Given the description of an element on the screen output the (x, y) to click on. 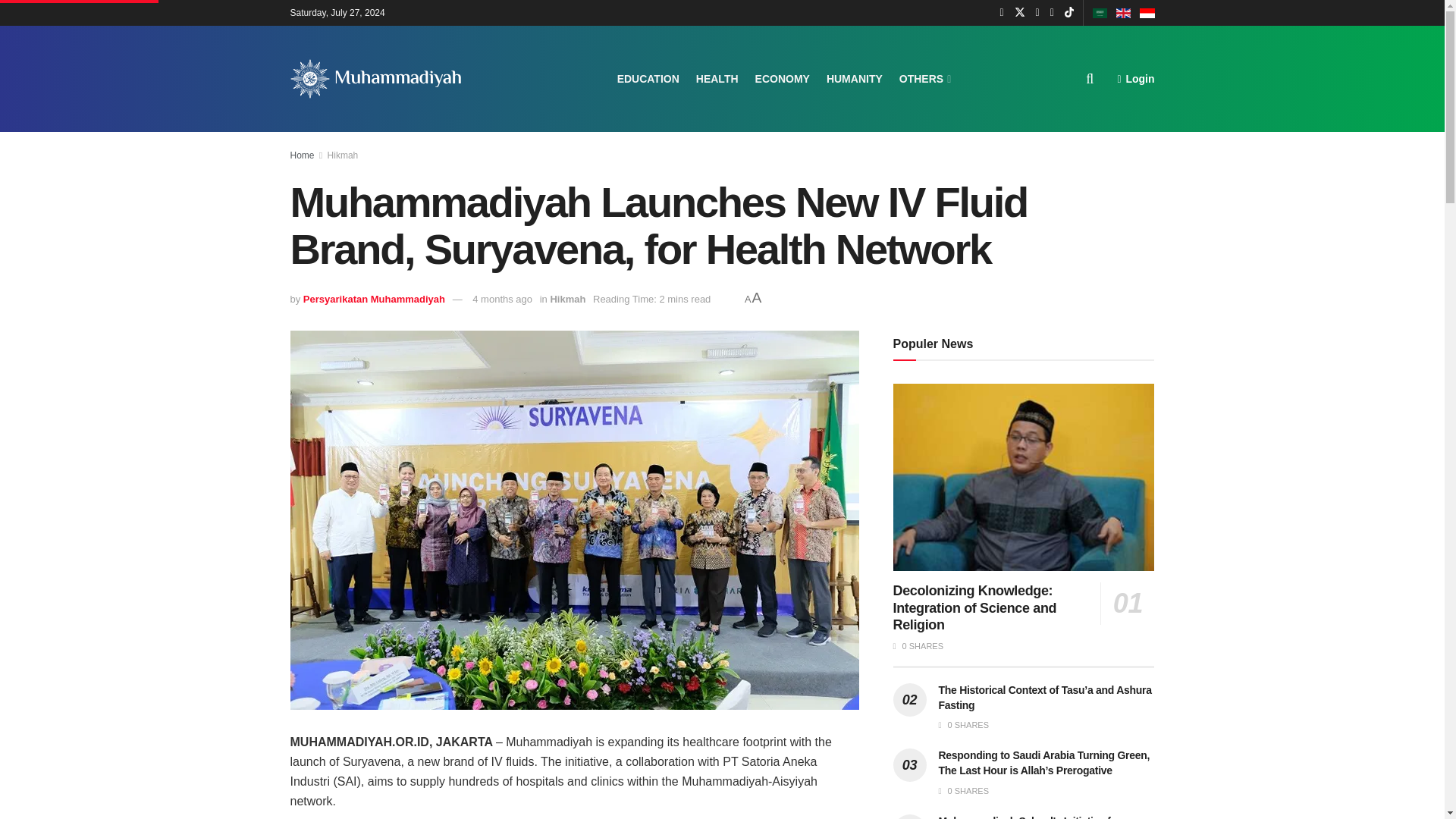
OTHERS (924, 78)
HEALTH (716, 78)
HUMANITY (854, 78)
EDUCATION (648, 78)
Login (1135, 78)
ECONOMY (782, 78)
